Given the description of an element on the screen output the (x, y) to click on. 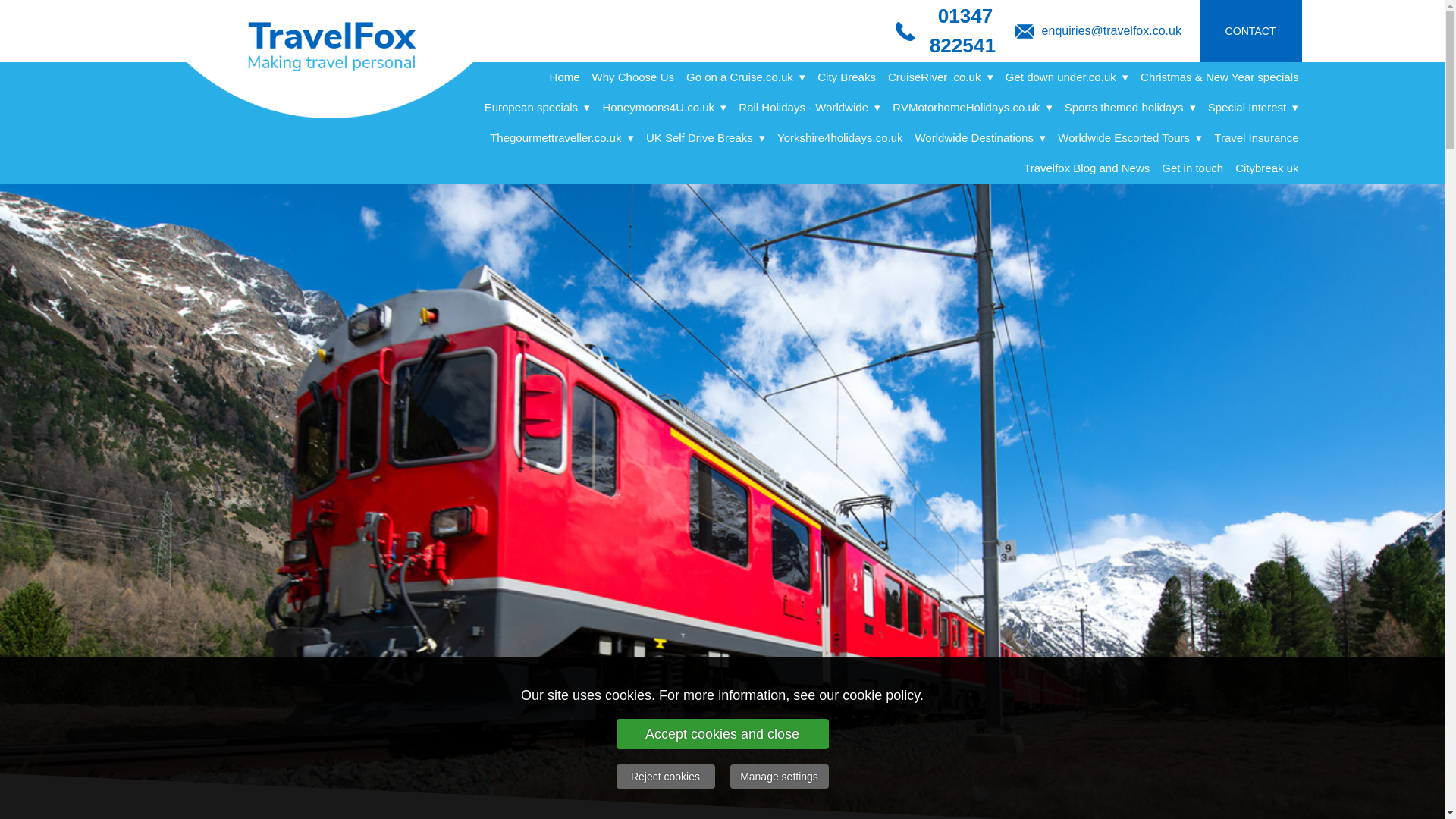
CONTACT (1250, 31)
Why Choose Us (632, 77)
01347 822541 (964, 33)
CruiseRiver .co.uk (940, 77)
Go on a Cruise.co.uk (744, 77)
City Breaks (846, 77)
Home (564, 77)
